Given the description of an element on the screen output the (x, y) to click on. 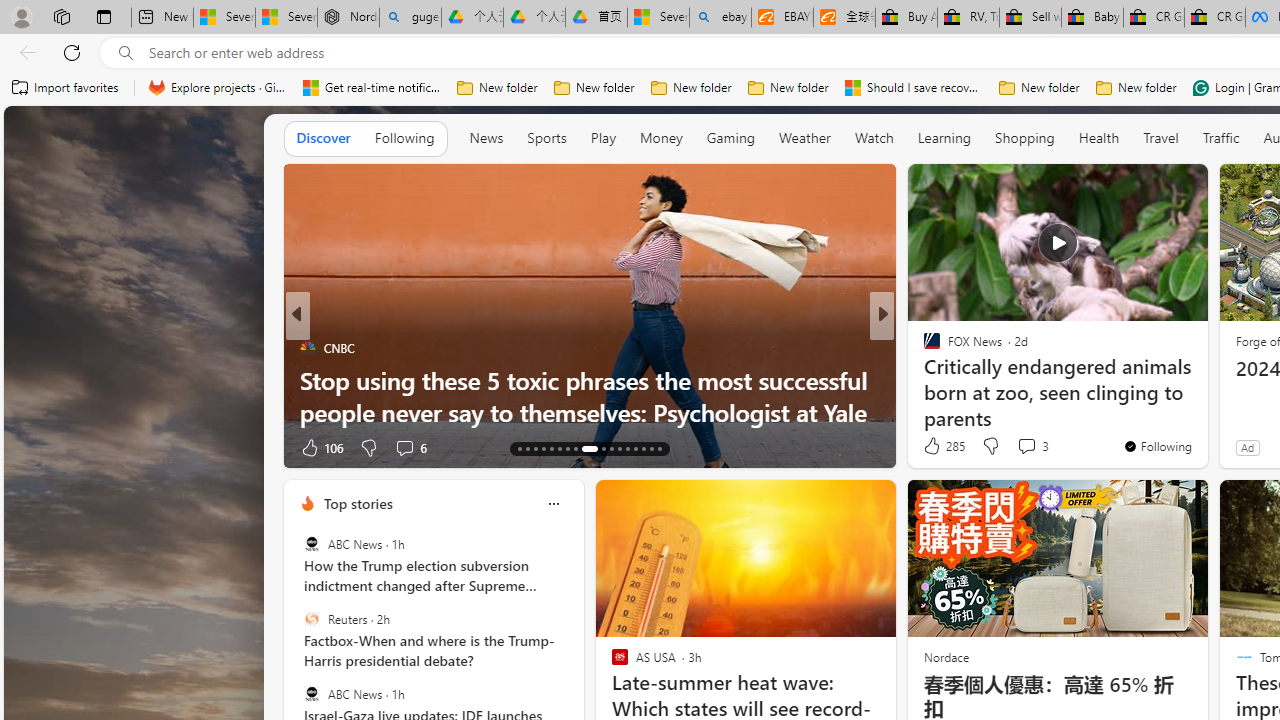
31 Like (317, 447)
AutomationID: tab-24 (619, 448)
